Given the description of an element on the screen output the (x, y) to click on. 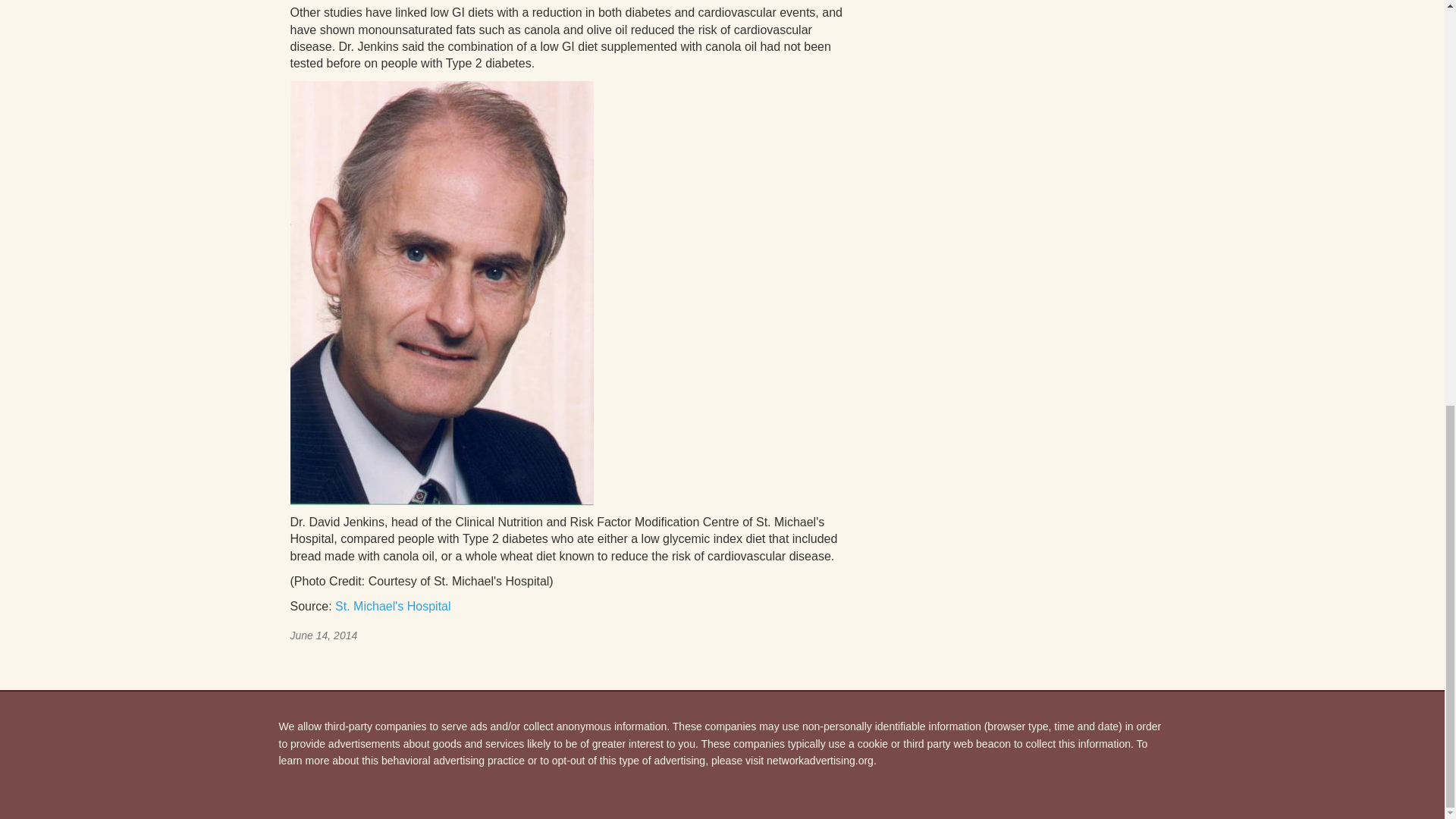
St. Michael's Hospital (391, 605)
